Given the description of an element on the screen output the (x, y) to click on. 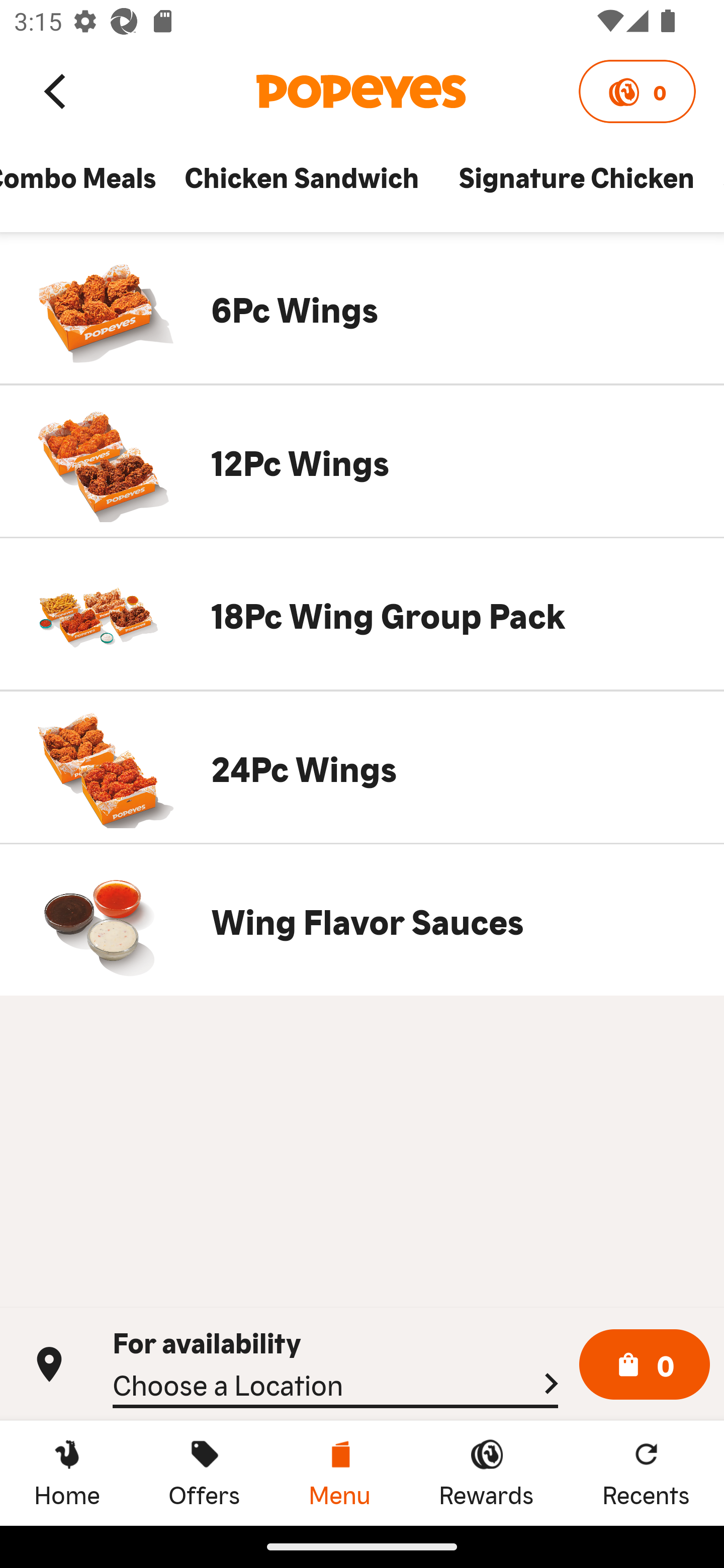
Back (56, 90)
0 Points 0 (636, 91)
Chicken Sandwich   (306, 186)
Signature Chicken (575, 186)
0 Cart total  0 (644, 1364)
Home Home Home (66, 1472)
Offers Offers Offers (203, 1472)
Menu, current page Menu Menu, current page (339, 1472)
Rewards Rewards Rewards (486, 1472)
Recents Recents Recents (646, 1472)
